Given the description of an element on the screen output the (x, y) to click on. 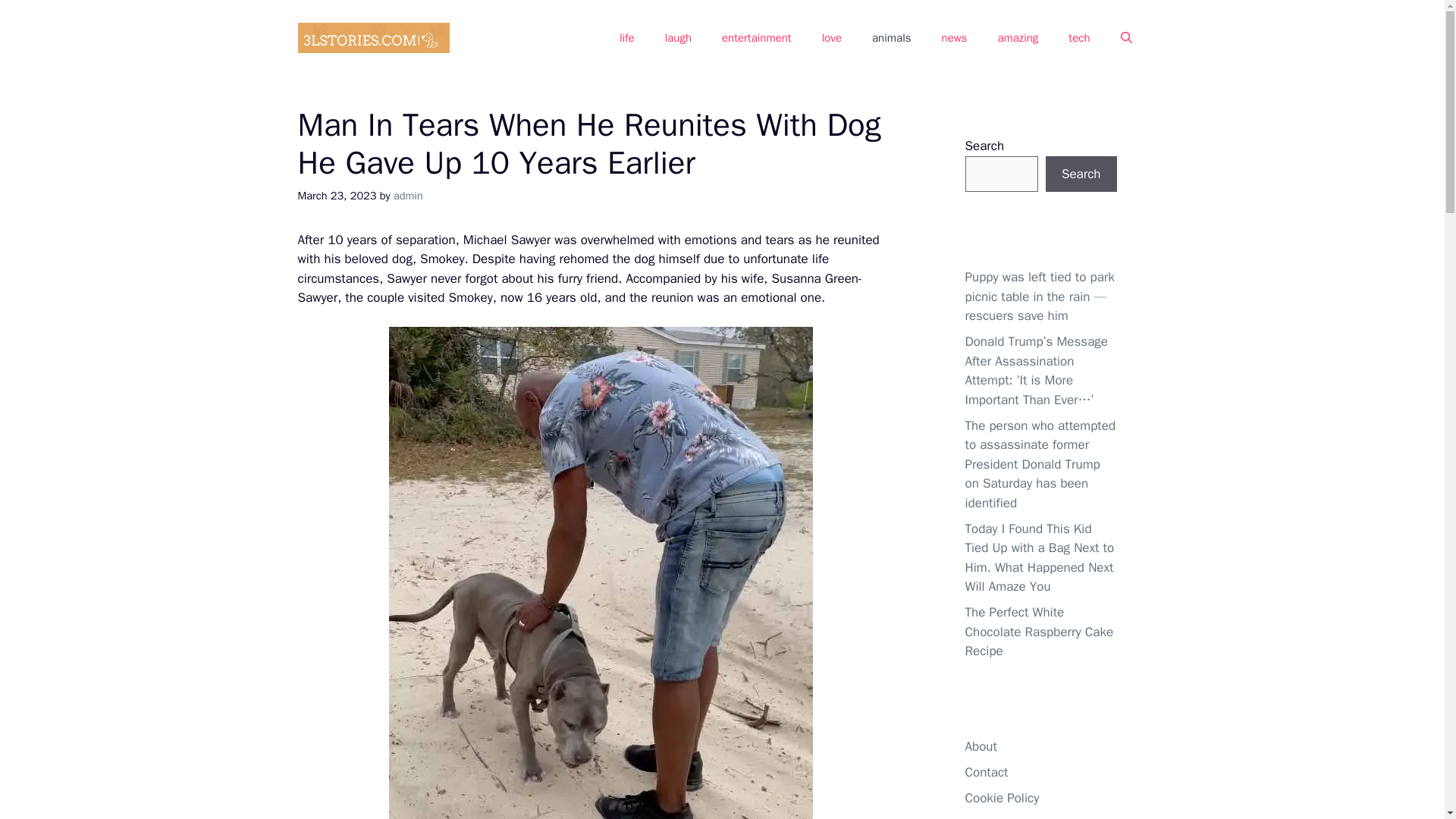
tech (1078, 37)
Contact (985, 772)
amazing (1016, 37)
The Perfect White Chocolate Raspberry Cake Recipe (1038, 631)
Search (1080, 174)
news (954, 37)
Corrections Policy (1013, 817)
View all posts by admin (408, 195)
About (979, 746)
entertainment (756, 37)
laugh (677, 37)
life (626, 37)
Cookie Policy (1001, 797)
